Given the description of an element on the screen output the (x, y) to click on. 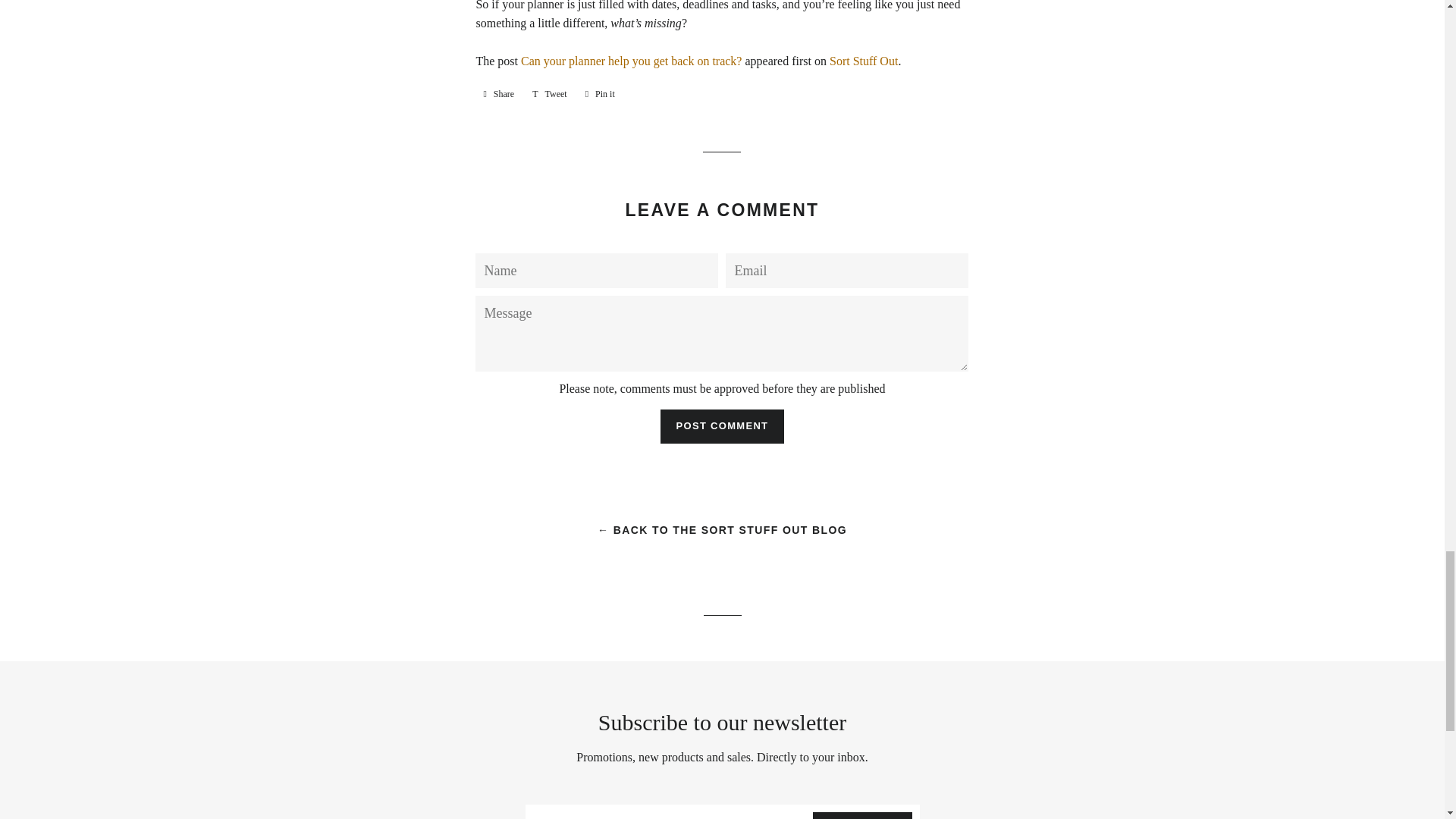
Post comment (722, 426)
Tweet on Twitter (549, 93)
Pin on Pinterest (600, 93)
Share on Facebook (498, 93)
